Given the description of an element on the screen output the (x, y) to click on. 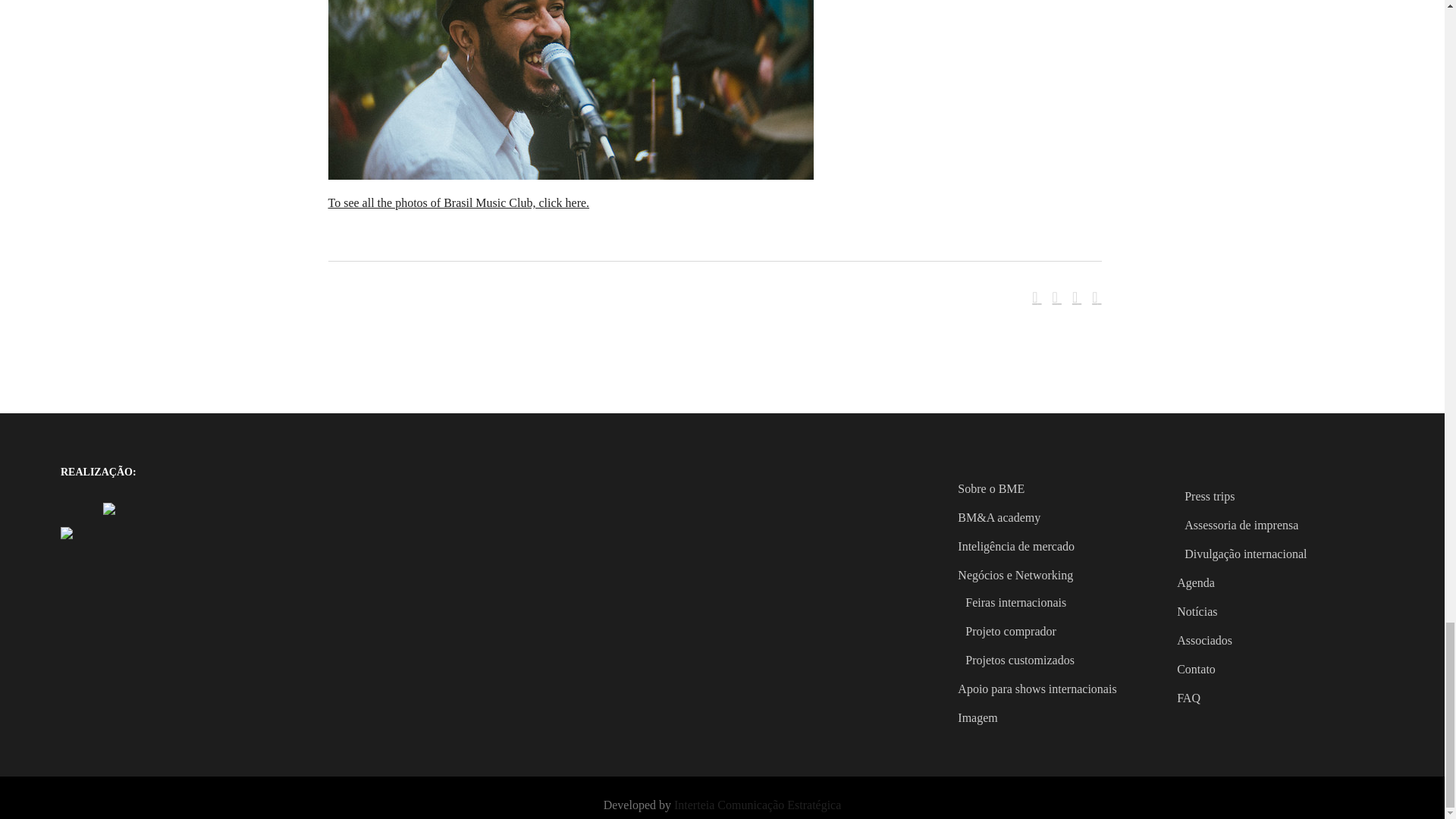
Brasil Music Club (569, 174)
